Given the description of an element on the screen output the (x, y) to click on. 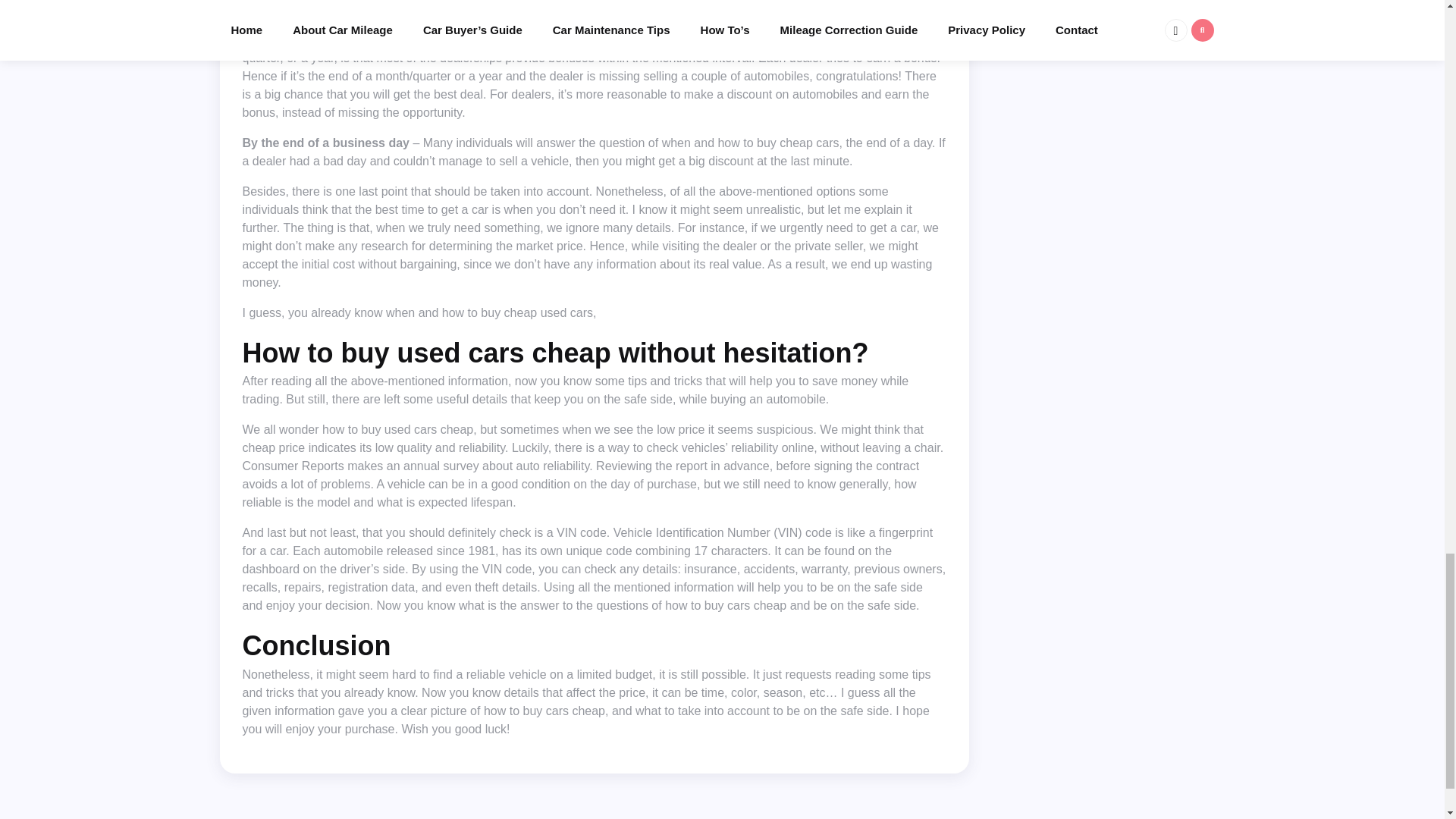
report (691, 465)
